Given the description of an element on the screen output the (x, y) to click on. 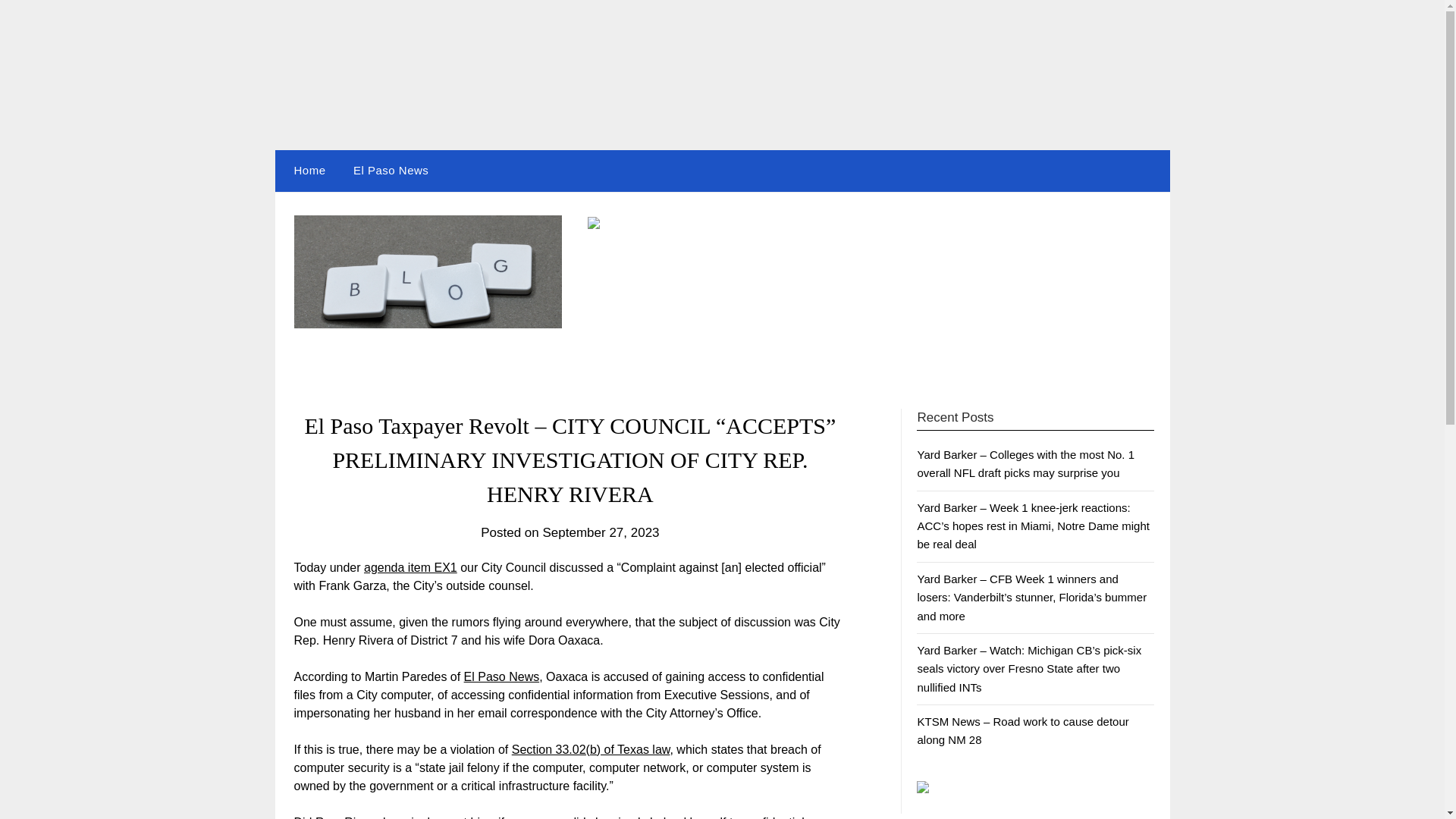
Home (306, 169)
agenda item EX1 (410, 567)
El Paso News (390, 169)
El Paso News (502, 676)
